Given the description of an element on the screen output the (x, y) to click on. 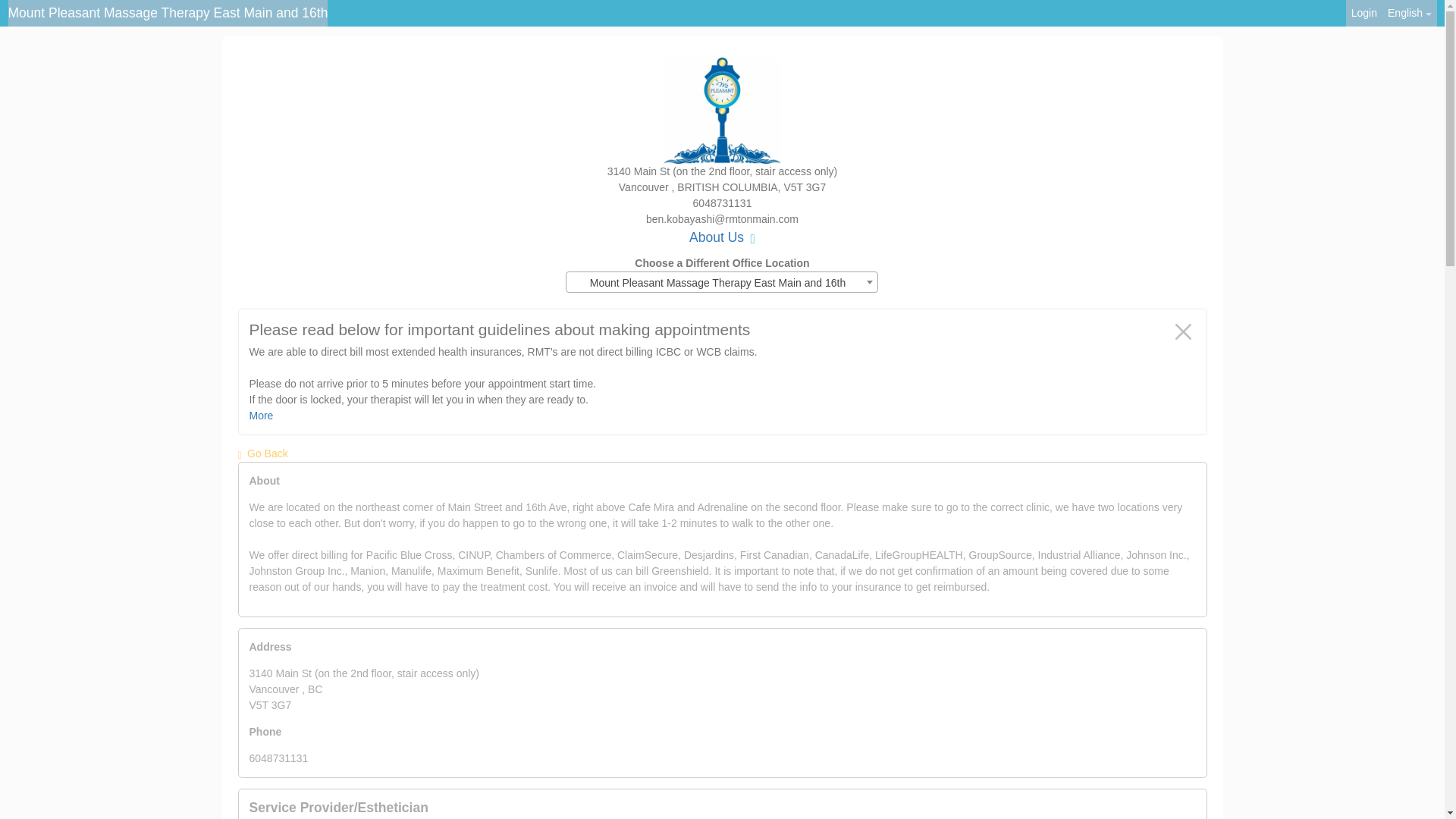
Mount Pleasant Massage Therapy East Main and 16th  (721, 282)
About Us (721, 237)
More (260, 415)
English (1408, 13)
Go Back (263, 453)
Login (1363, 13)
Mount Pleasant Massage Therapy East Main and 16th (167, 13)
